Given the description of an element on the screen output the (x, y) to click on. 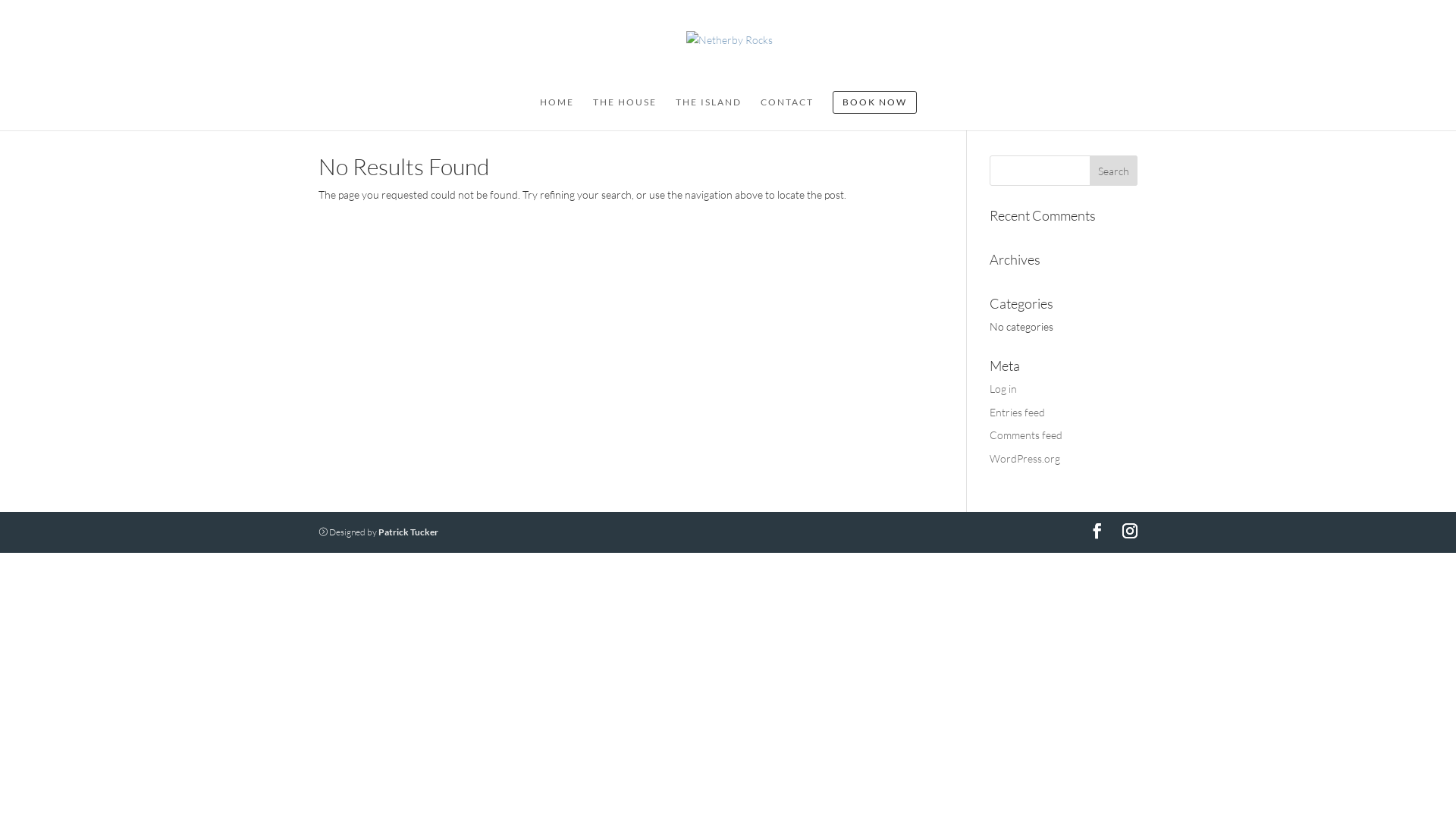
WordPress.org Element type: text (1024, 457)
BOOK NOW Element type: text (874, 110)
THE ISLAND Element type: text (707, 110)
Comments feed Element type: text (1025, 434)
Patrick Tucker Element type: text (408, 531)
THE HOUSE Element type: text (624, 110)
Log in Element type: text (1002, 388)
CONTACT Element type: text (785, 110)
Entries feed Element type: text (1016, 411)
HOME Element type: text (556, 110)
Search Element type: text (1113, 170)
